Given the description of an element on the screen output the (x, y) to click on. 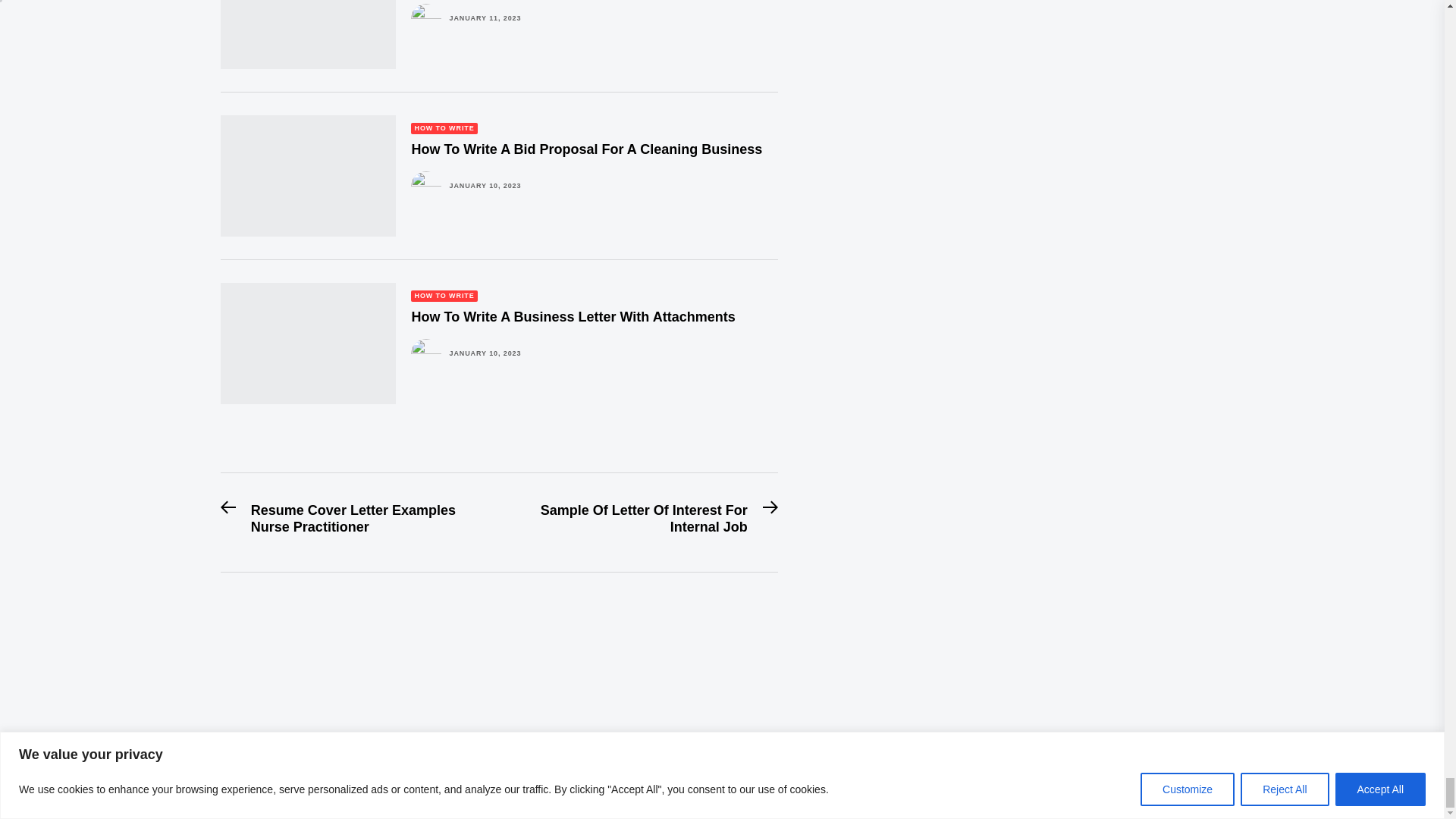
WordPress (366, 780)
Themeinwp (249, 780)
Coverletterpedia (225, 763)
